Given the description of an element on the screen output the (x, y) to click on. 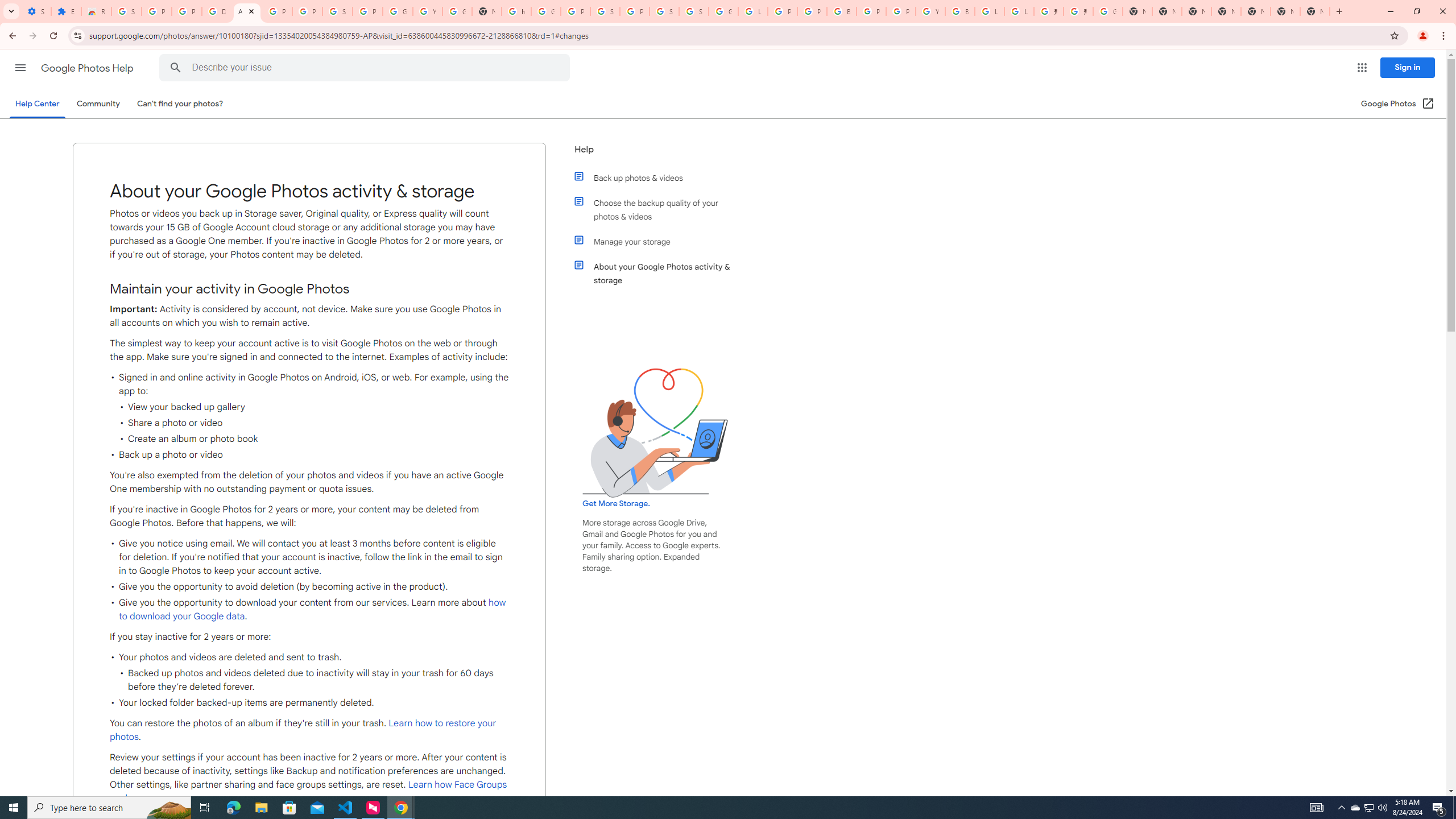
Settings - On startup (36, 11)
Sign in - Google Accounts (604, 11)
Manage your storage (661, 241)
YouTube (426, 11)
https://scholar.google.com/ (515, 11)
Choose the backup quality of your photos & videos (661, 209)
Sign in - Google Accounts (693, 11)
